Given the description of an element on the screen output the (x, y) to click on. 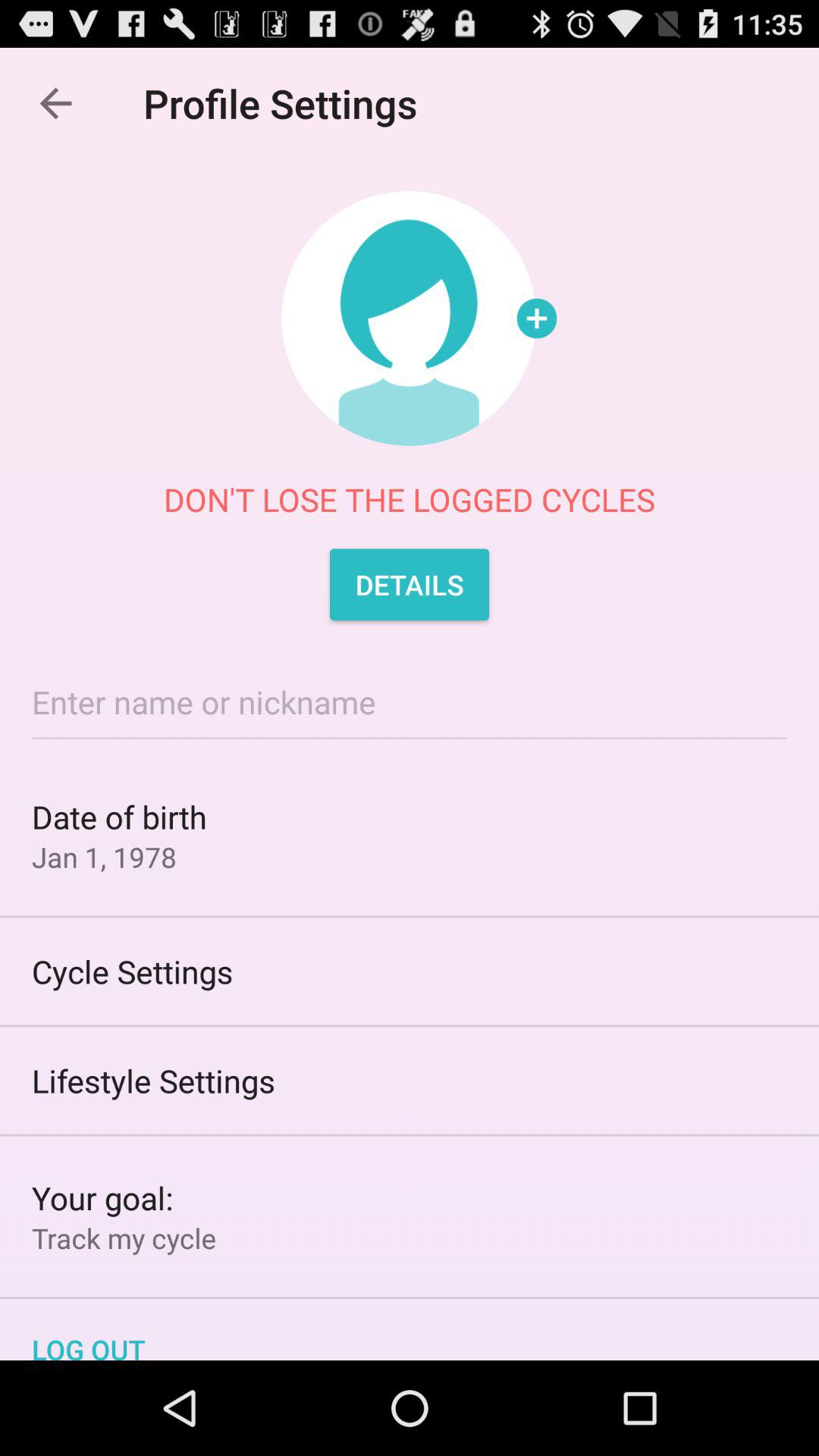
choose item below the don t lose (409, 584)
